Given the description of an element on the screen output the (x, y) to click on. 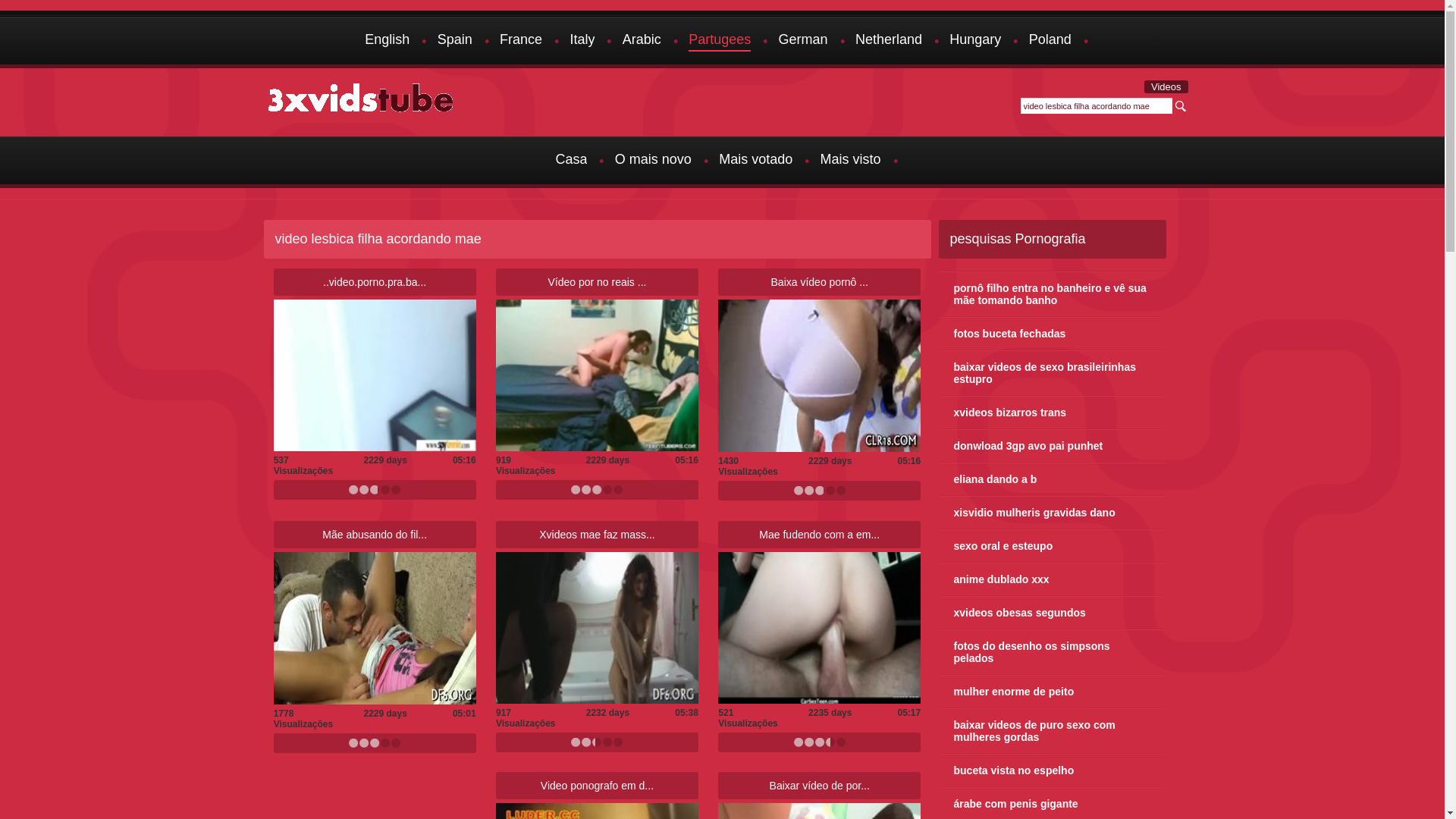
fotos buceta fechadas Element type: text (1052, 333)
baixar videos de sexo brasileirinhas estupro Element type: text (1052, 373)
baixar videos de puro sexo com mulheres gordas Element type: text (1052, 731)
English Element type: text (386, 40)
fotos do desenho os simpsons pelados Element type: text (1052, 652)
Hungary Element type: text (975, 40)
xisvidio mulheris gravidas dano Element type: text (1052, 512)
Mae fudendo com a em... Element type: text (819, 534)
Video ponografo em d... Element type: text (596, 785)
buceta vista no espelho Element type: text (1052, 770)
eliana dando a b Element type: text (1052, 479)
Xvideos mae faz mass... Element type: text (597, 534)
Poland Element type: text (1050, 40)
German Element type: text (803, 40)
Spain Element type: text (454, 40)
anime dublado xxx Element type: text (1052, 579)
xvideos bizarros trans Element type: text (1052, 412)
mulher enorme de peito Element type: text (1052, 691)
O mais novo Element type: text (653, 160)
Partugees Element type: text (719, 40)
xvideos obesas segundos Element type: text (1052, 612)
Netherland Element type: text (888, 40)
sexo oral e esteupo Element type: text (1052, 545)
Mais visto Element type: text (850, 160)
Videos Element type: text (1166, 86)
Italy Element type: text (581, 40)
France Element type: text (520, 40)
donwload 3gp avo pai punhet Element type: text (1052, 445)
Casa Element type: text (570, 160)
Arabic Element type: text (641, 40)
Mais votado Element type: text (755, 160)
..video.porno.pra.ba... Element type: text (374, 282)
